Given the description of an element on the screen output the (x, y) to click on. 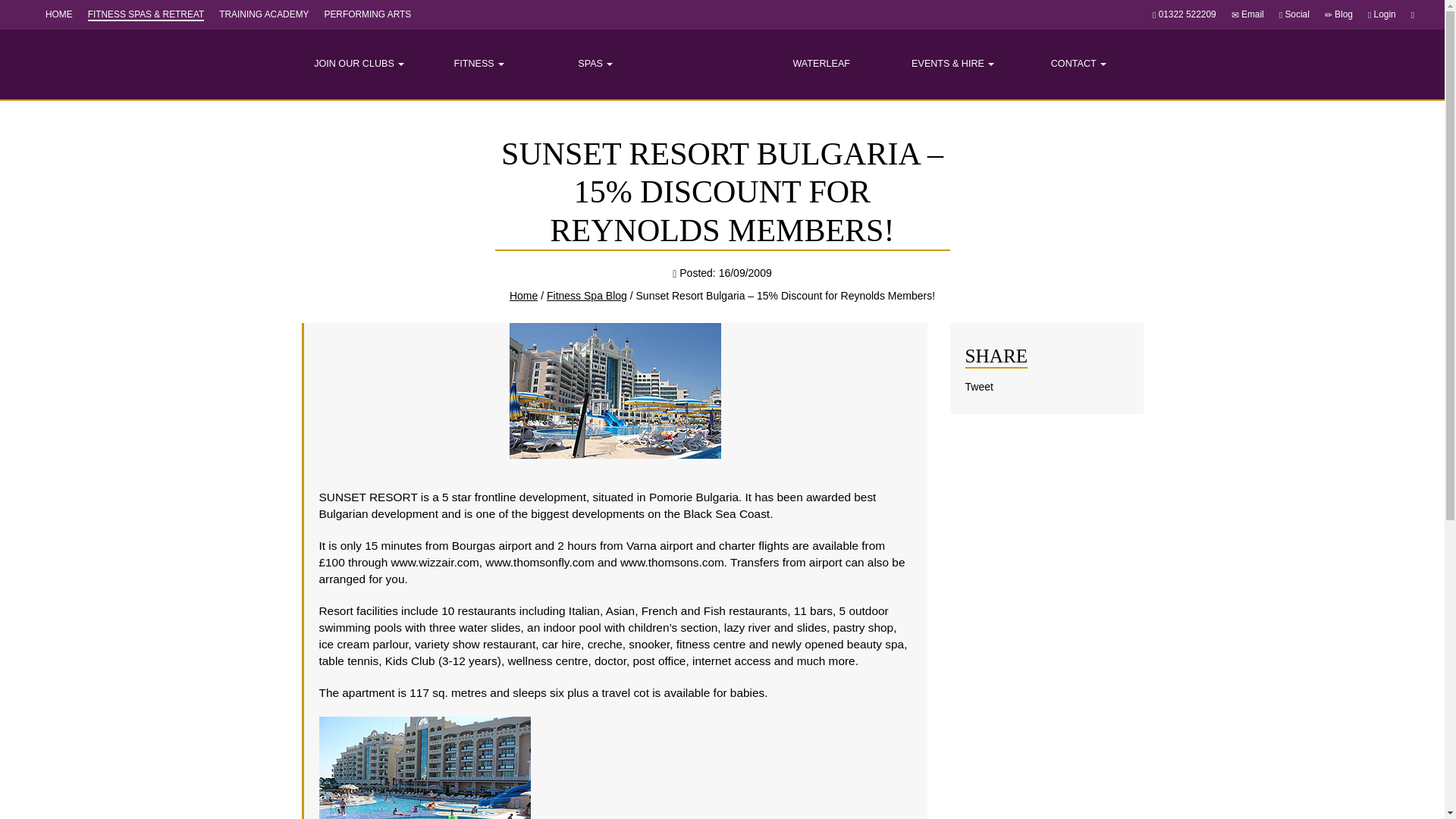
Join Our Clubs (358, 64)
01322 522209 (1186, 14)
Blog (1343, 14)
TRAINING ACADEMY (263, 14)
PERFORMING ARTS (366, 14)
JOIN OUR CLUBS (358, 64)
Training Academy (263, 14)
Fitness (478, 64)
HOME (58, 14)
Login (1385, 14)
